Given the description of an element on the screen output the (x, y) to click on. 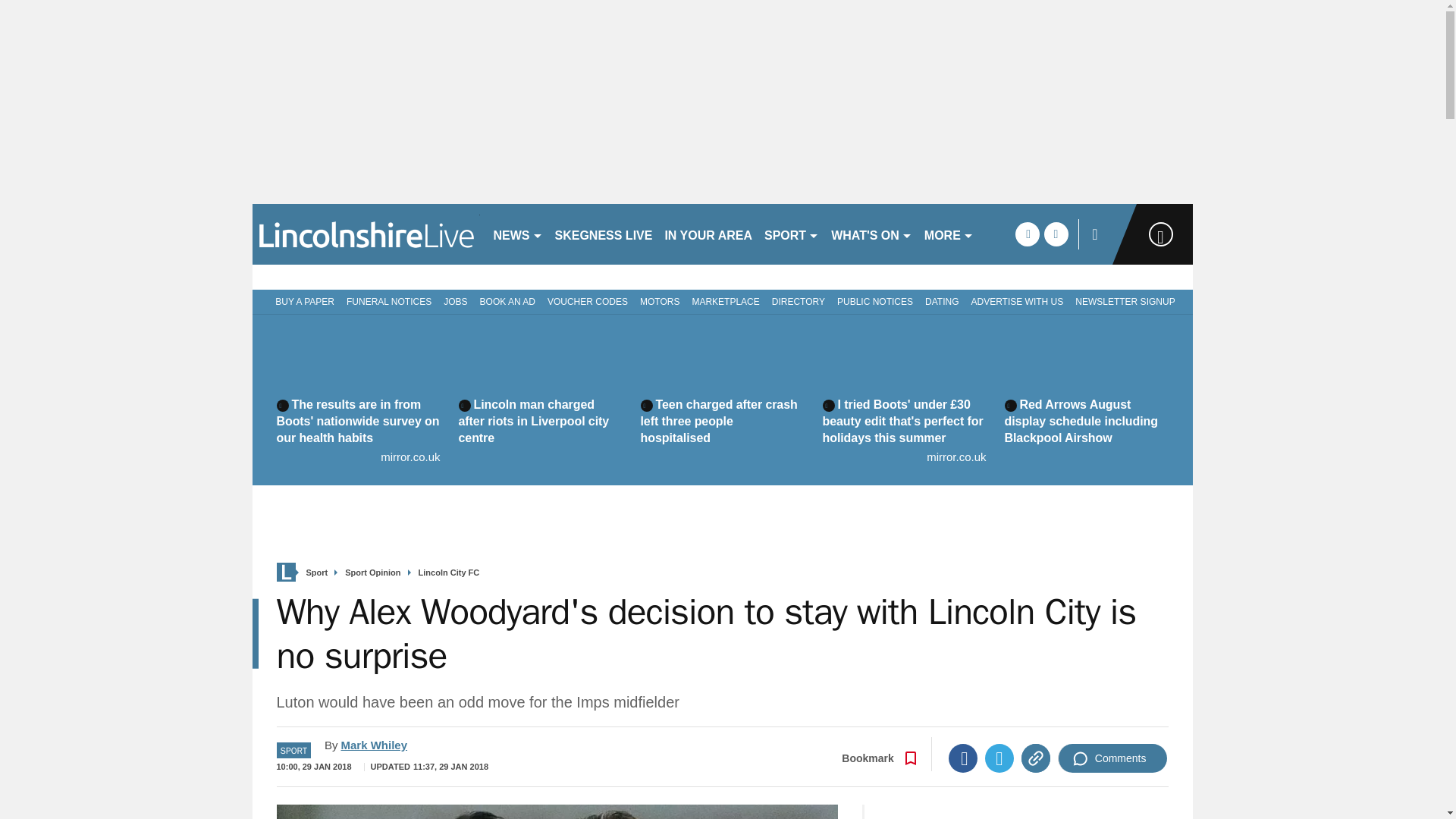
BUY A PAPER (301, 300)
facebook (1026, 233)
MORE (948, 233)
SPORT (791, 233)
WHAT'S ON (871, 233)
SKEGNESS LIVE (603, 233)
IN YOUR AREA (708, 233)
lincolnshirelive (365, 233)
Twitter (999, 758)
Comments (1112, 758)
Facebook (962, 758)
twitter (1055, 233)
NEWS (517, 233)
